Given the description of an element on the screen output the (x, y) to click on. 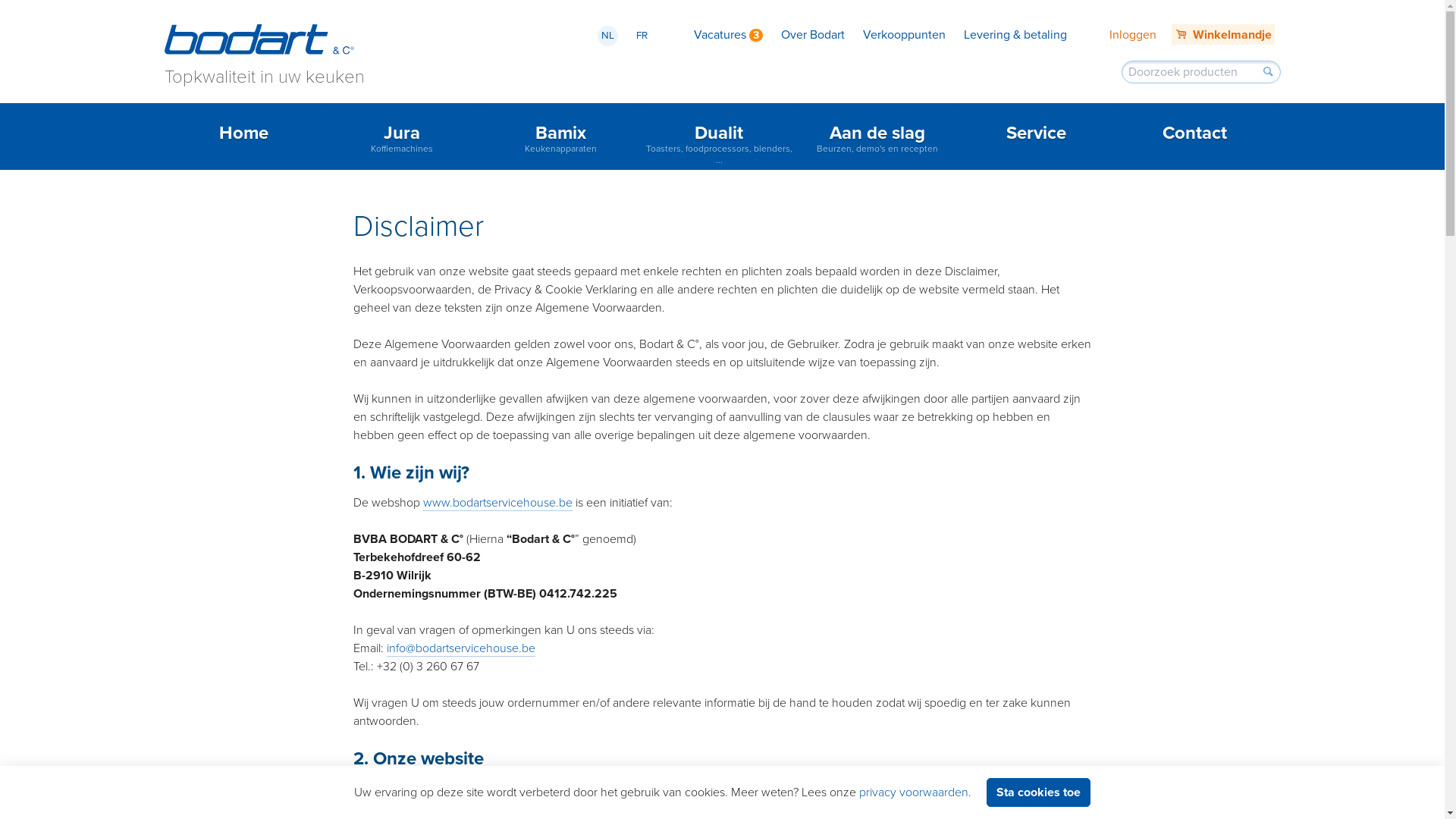
Over Bodart Element type: text (812, 34)
Sta cookies toe Element type: text (1038, 792)
Winkelmandje Element type: text (1222, 34)
Levering & betaling Element type: text (1015, 34)
FR Element type: text (641, 35)
Jura
Koffiemachines Element type: text (402, 136)
Contact Element type: text (1194, 136)
Topkwaliteit in uw keuken Element type: text (263, 51)
Dualit
Toasters, foodprocessors, blenders, ... Element type: text (719, 136)
www.bodartservicehouse.be Element type: text (497, 503)
NL Element type: text (607, 35)
Vacatures
3 Element type: text (727, 34)
Service Element type: text (1036, 136)
Aan de slag
Beurzen, demo's en recepten Element type: text (877, 136)
Inloggen Element type: text (1132, 34)
Verkooppunten Element type: text (903, 34)
Home Element type: text (243, 136)
info@bodartservicehouse.be Element type: text (460, 648)
Bamix
Keukenapparaten Element type: text (560, 136)
privacy voorwaarden Element type: text (913, 792)
